Given the description of an element on the screen output the (x, y) to click on. 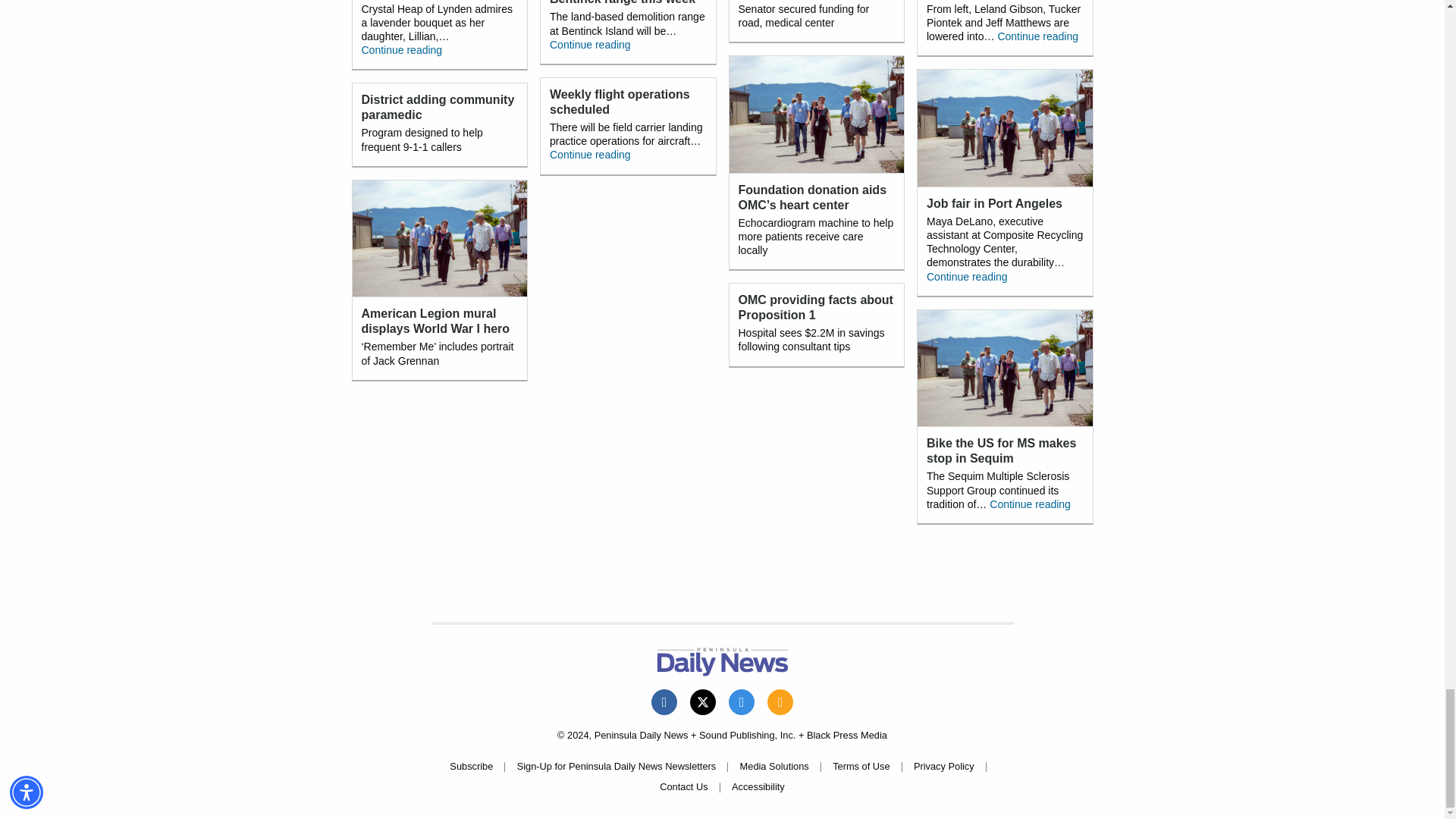
Follow us on Facebook (663, 701)
Follow us on Twitter (703, 701)
